Given the description of an element on the screen output the (x, y) to click on. 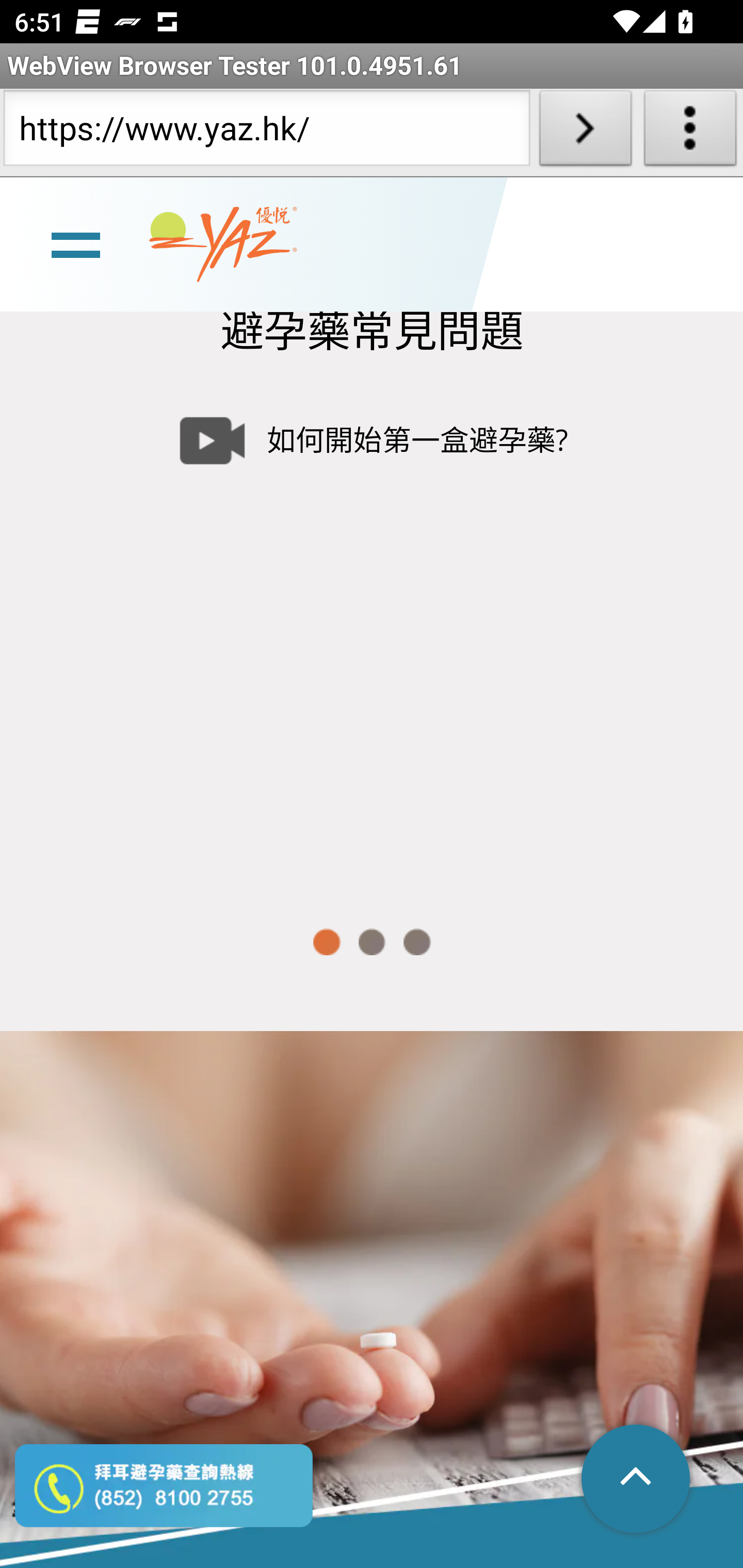
https://www.yaz.hk/ (266, 132)
Load URL (585, 132)
About WebView (690, 132)
www.yaz (222, 245)
line Toggle burger menu (75, 245)
slide 1 如何開始第一盒避孕藥? Video Player Video Player (371, 633)
1 of 3 (326, 943)
2 of 3 (371, 943)
3 of 3 (416, 943)
 (636, 1480)
